Given the description of an element on the screen output the (x, y) to click on. 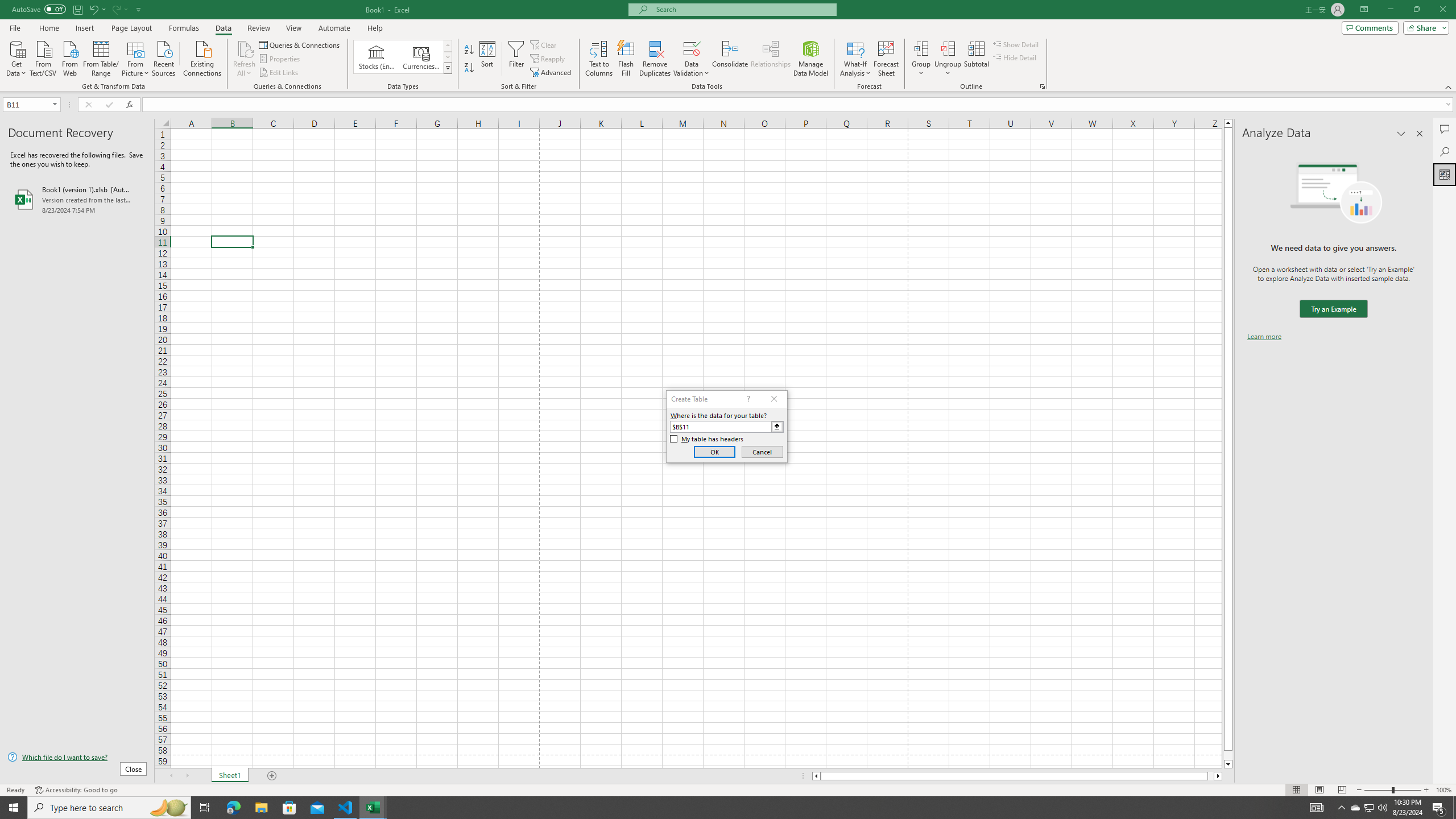
Forecast Sheet (885, 58)
Data Types (448, 67)
Filter (515, 58)
From Text/CSV (43, 57)
From Web (69, 57)
